Given the description of an element on the screen output the (x, y) to click on. 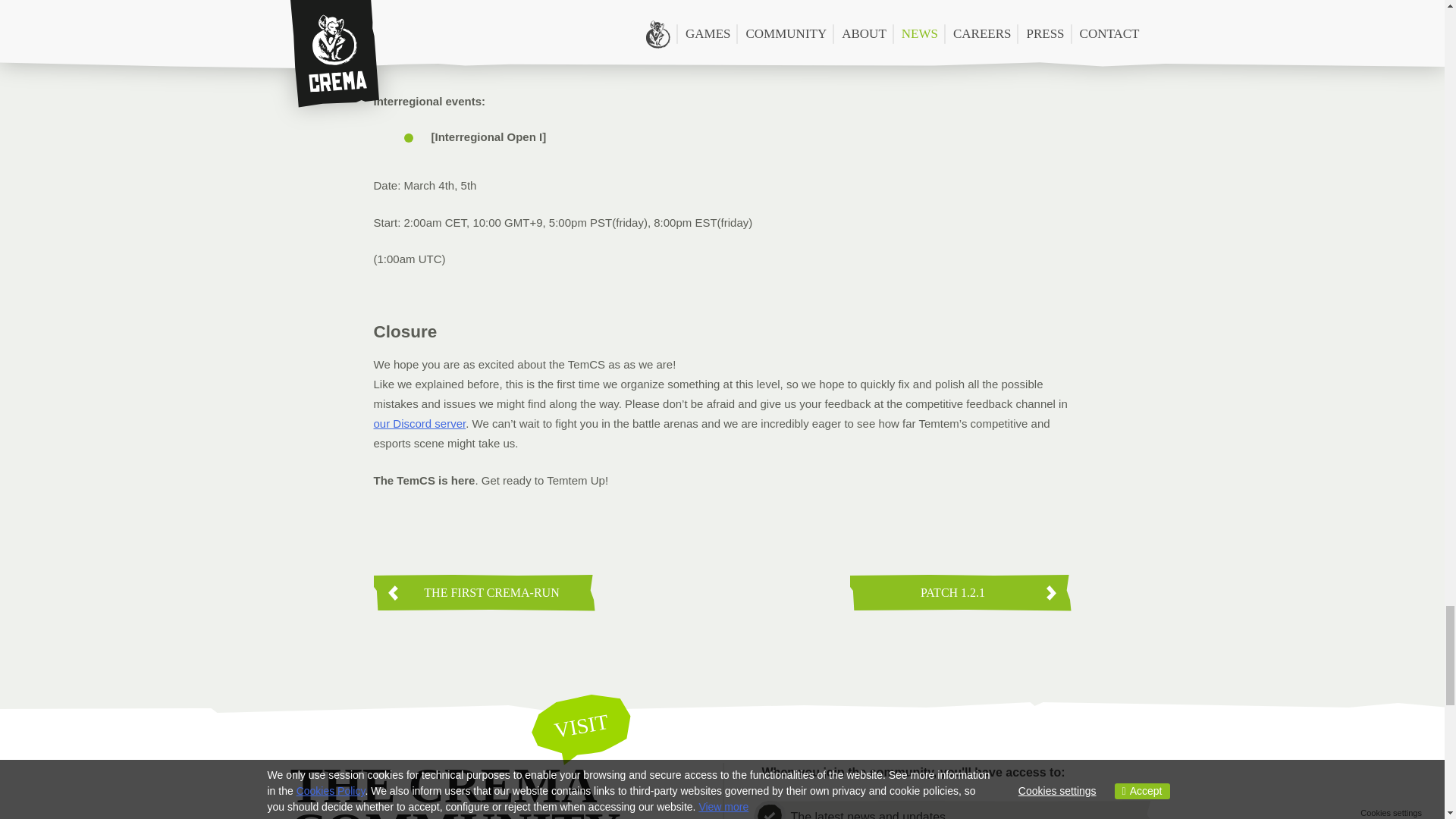
Patch 1.2.1 (959, 592)
PATCH 1.2.1 (959, 592)
The first Crema-run tournament is happening this Saturday! (483, 592)
our Discord server (418, 422)
